Given the description of an element on the screen output the (x, y) to click on. 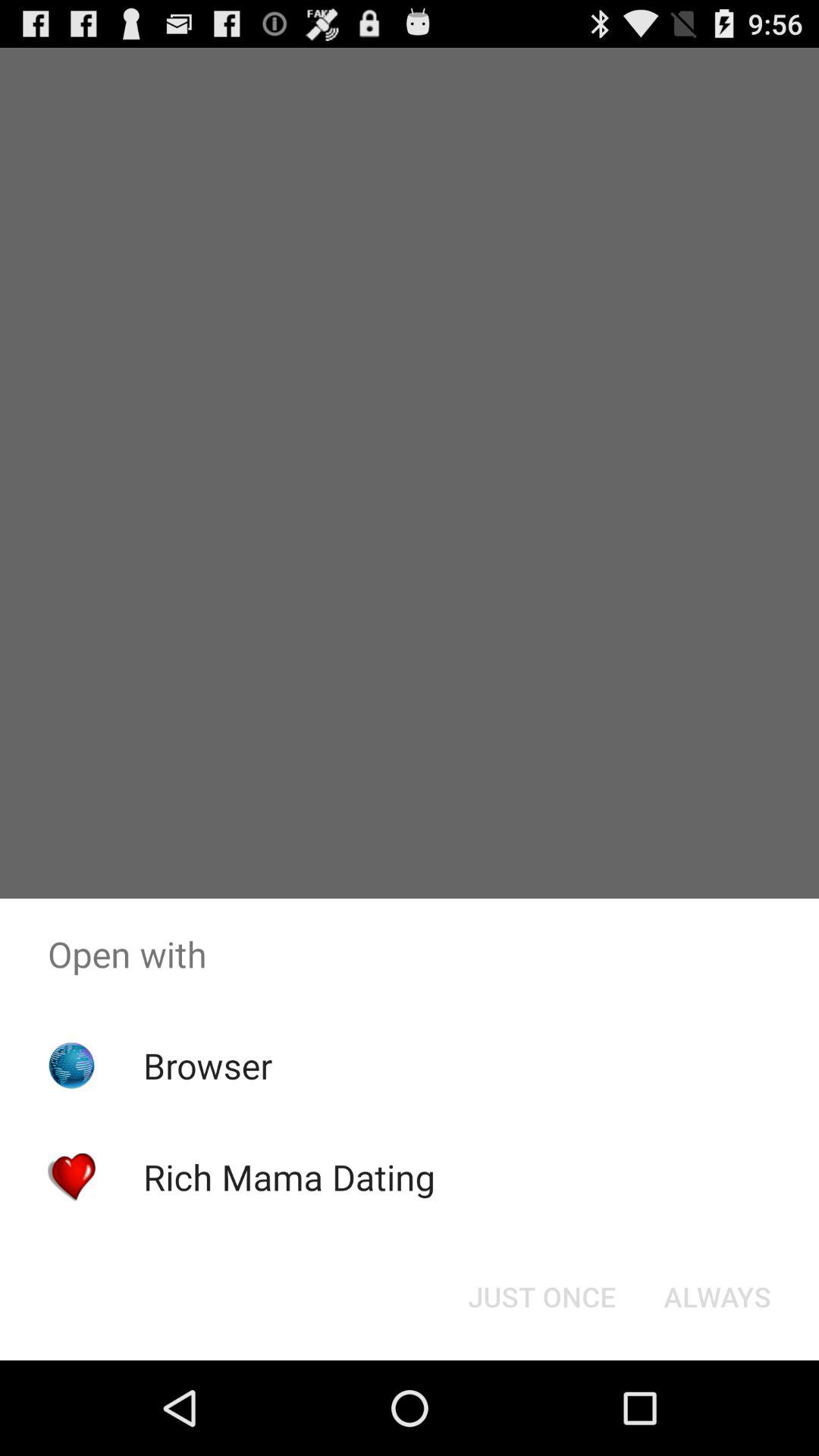
choose icon below open with item (717, 1296)
